Given the description of an element on the screen output the (x, y) to click on. 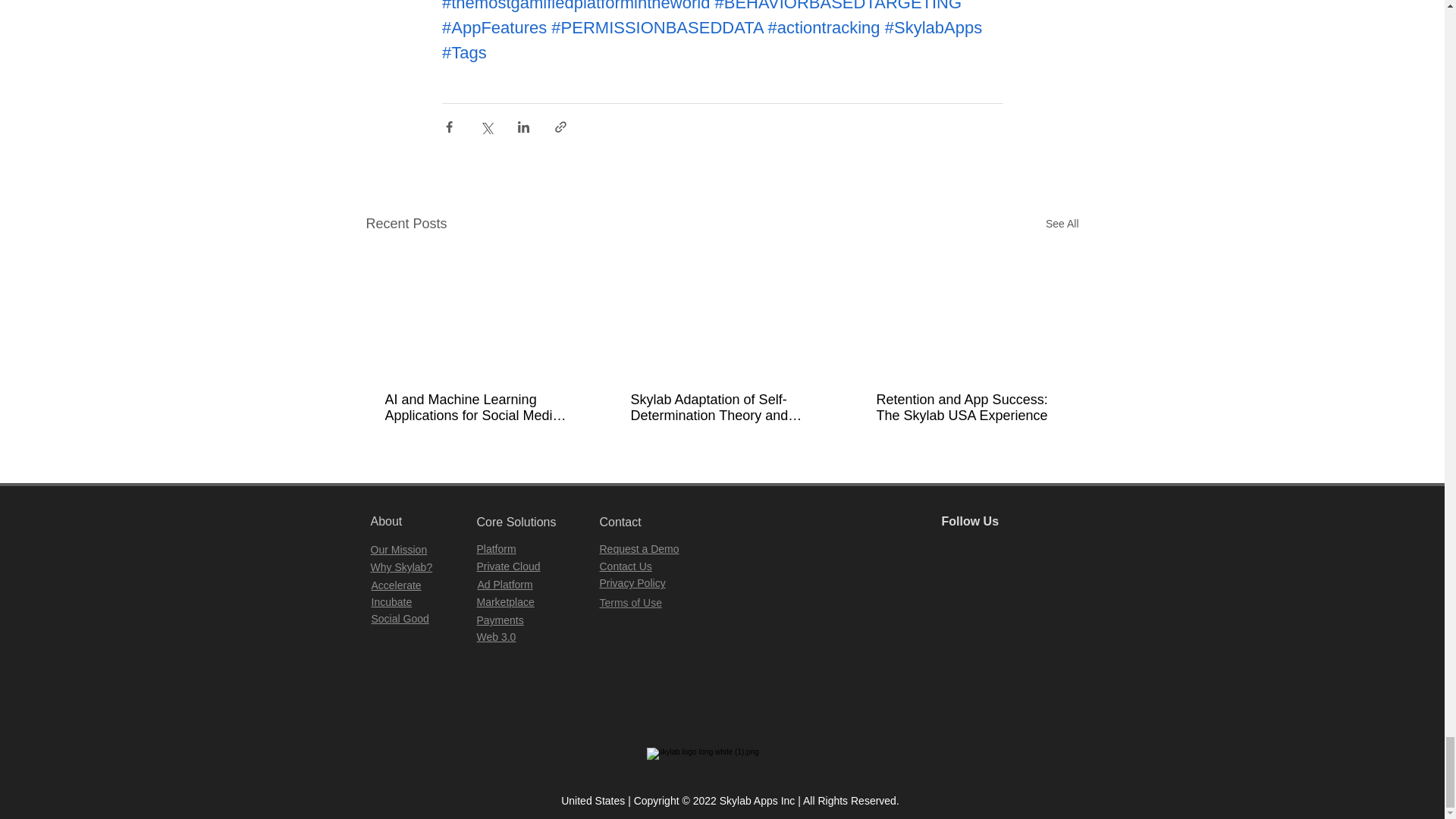
See All (1061, 223)
